Given the description of an element on the screen output the (x, y) to click on. 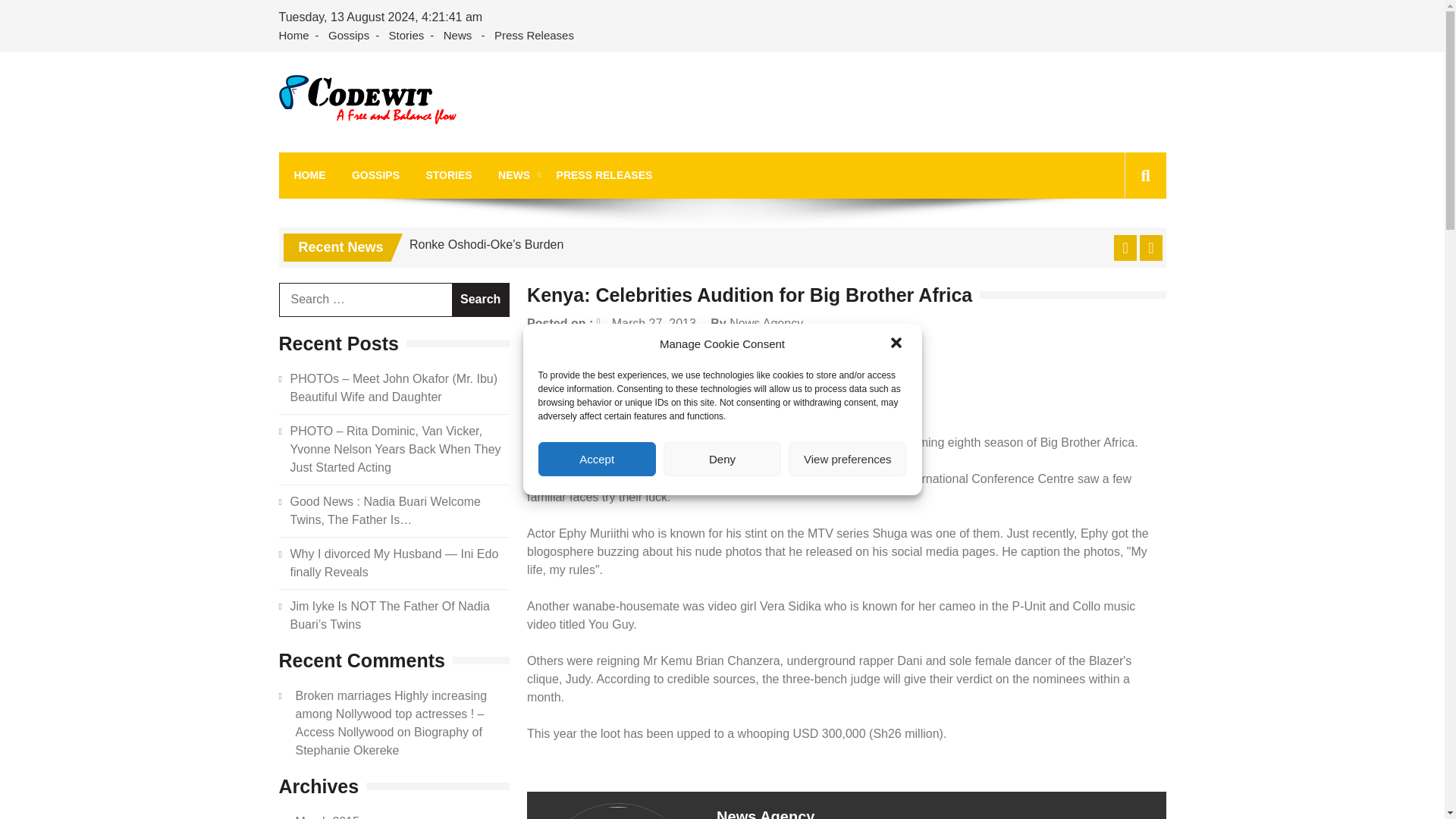
Search (1120, 243)
Accept (597, 458)
Stories (406, 36)
News (458, 36)
Search (480, 299)
STORIES (448, 175)
Gossips (348, 36)
Posts by News Agency (766, 323)
Deny (721, 458)
Access Nollywood (396, 144)
